Given the description of an element on the screen output the (x, y) to click on. 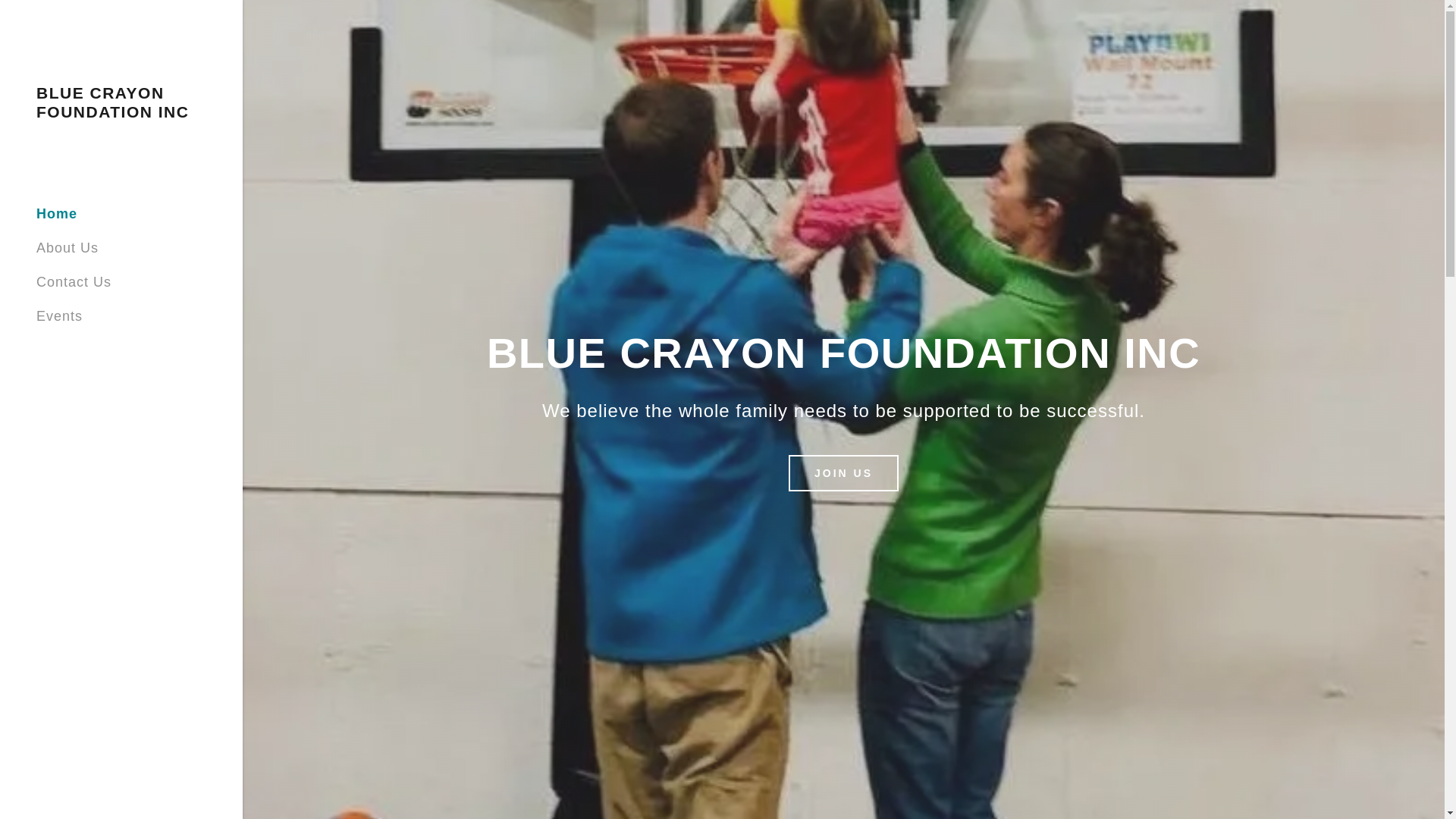
Events (59, 315)
JOIN US (843, 473)
Home (56, 213)
About Us (67, 247)
BLUE CRAYON FOUNDATION INC (121, 112)
Contact Us (74, 281)
Blue Crayon Foundation INC (121, 112)
